Given the description of an element on the screen output the (x, y) to click on. 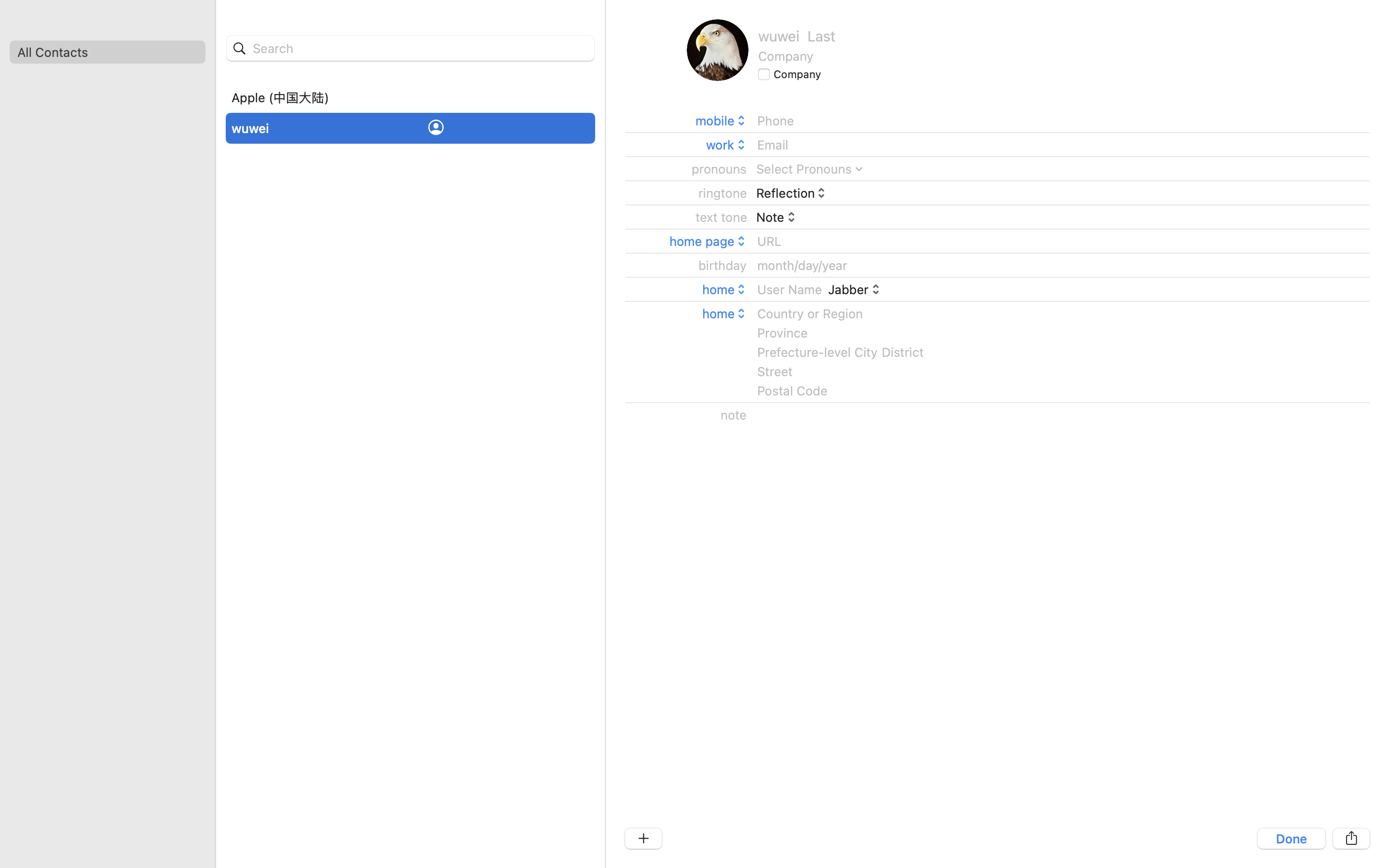
note Element type: AXStaticText (733, 414)
Jabber Element type: AXStaticText (854, 289)
Note Element type: AXPopUpButton (776, 216)
pronouns Element type: AXStaticText (719, 168)
All Contacts Element type: AXStaticText (107, 51)
